Given the description of an element on the screen output the (x, y) to click on. 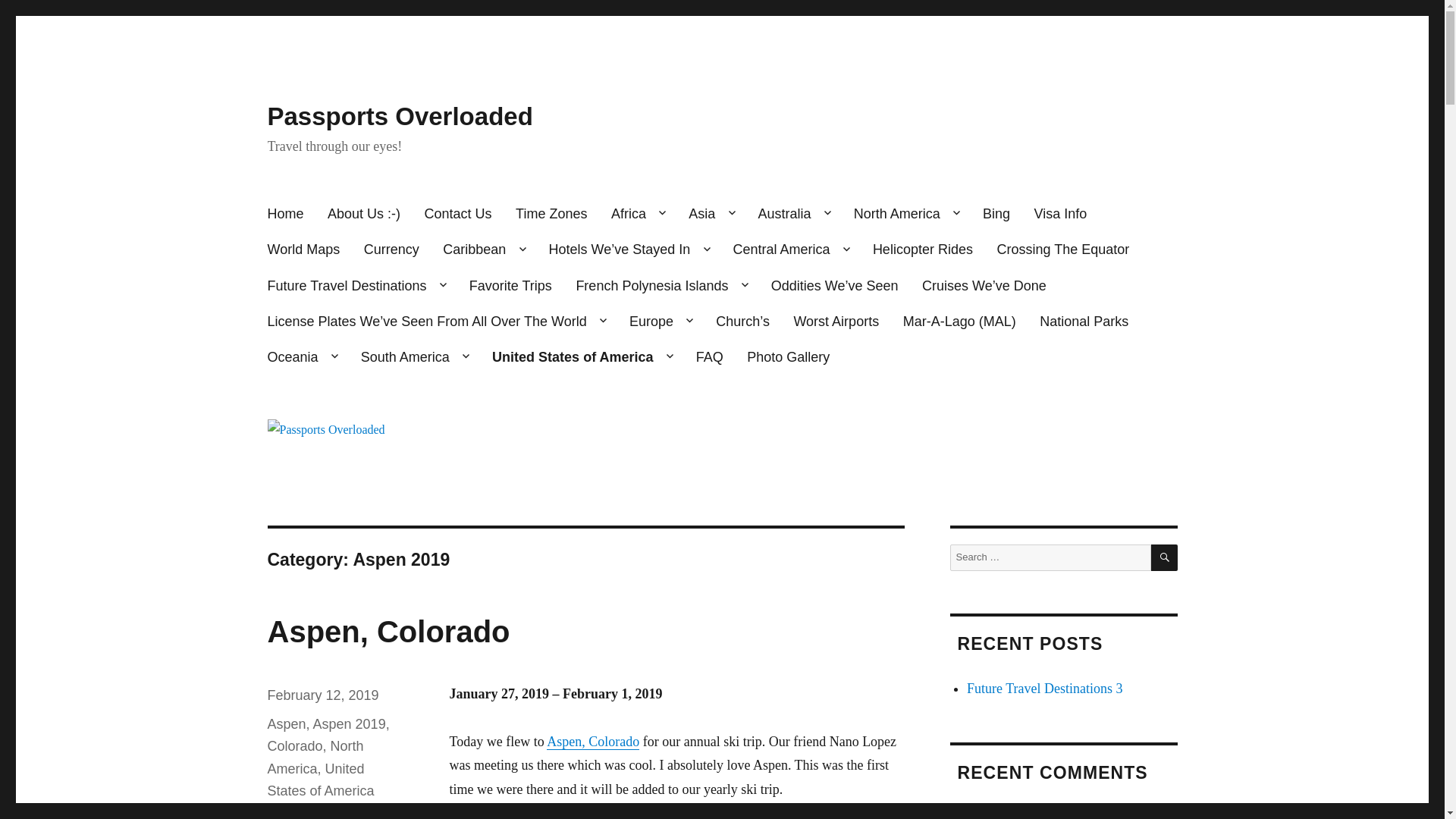
Time Zones (550, 213)
Contact Us (457, 213)
Passports Overloaded (399, 116)
Home (285, 213)
Africa (637, 213)
